Given the description of an element on the screen output the (x, y) to click on. 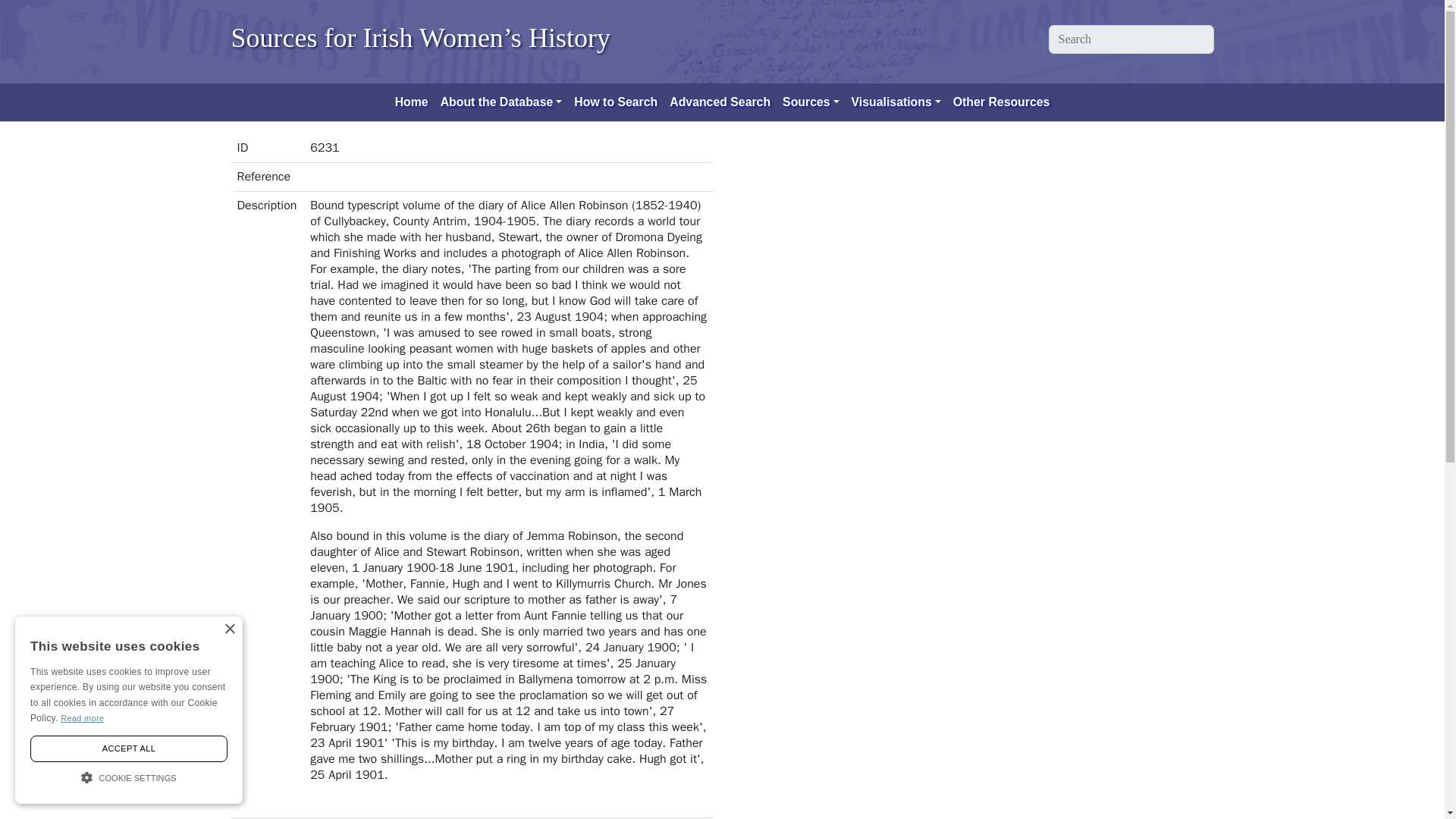
About the Database (501, 101)
Home (410, 101)
How to Search (615, 101)
Advanced Search (719, 101)
Other Resources (1002, 101)
Sources (810, 101)
Visualisations (896, 101)
Read more (82, 717)
